Given the description of an element on the screen output the (x, y) to click on. 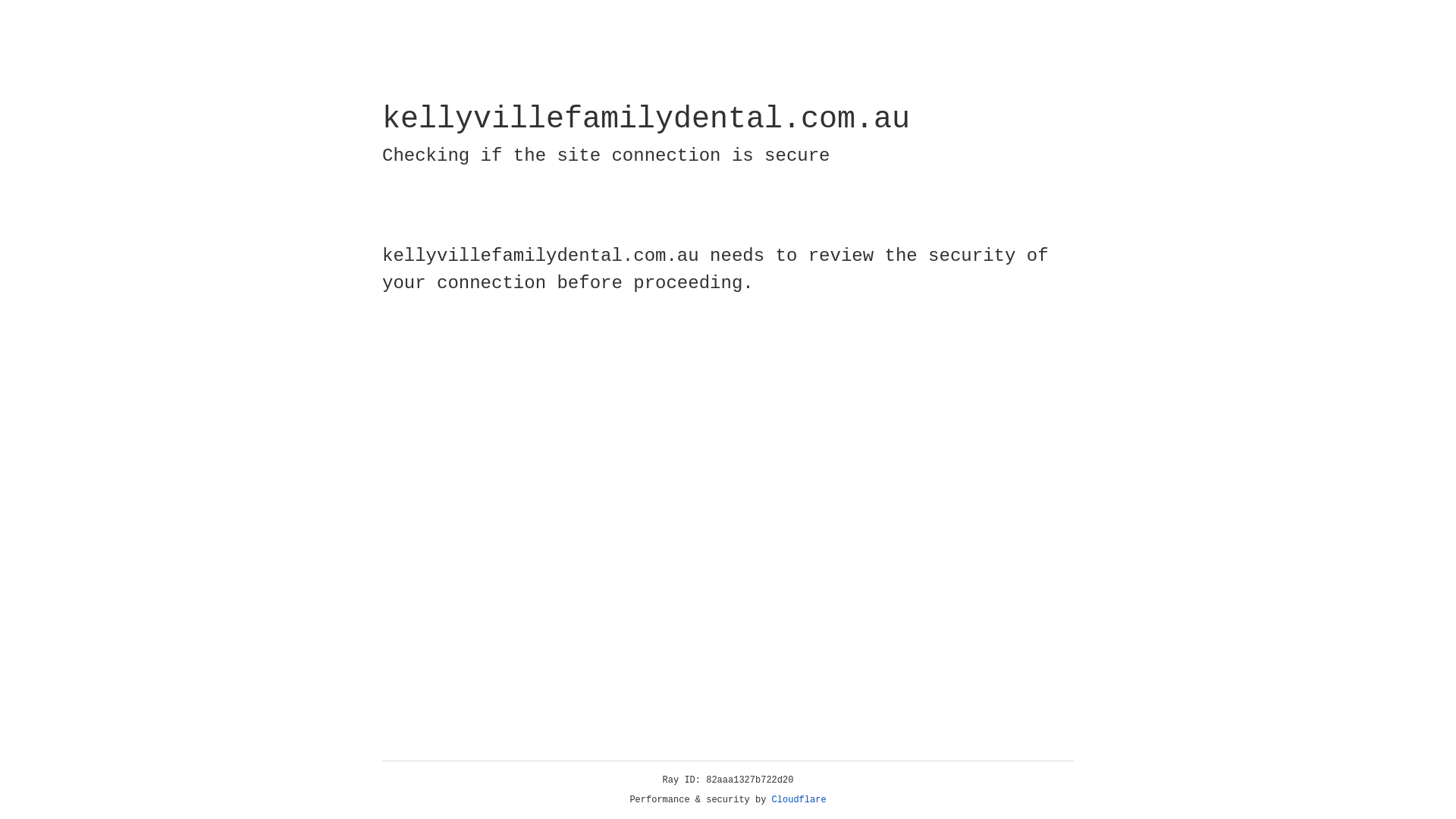
Cloudflare Element type: text (798, 799)
